Given the description of an element on the screen output the (x, y) to click on. 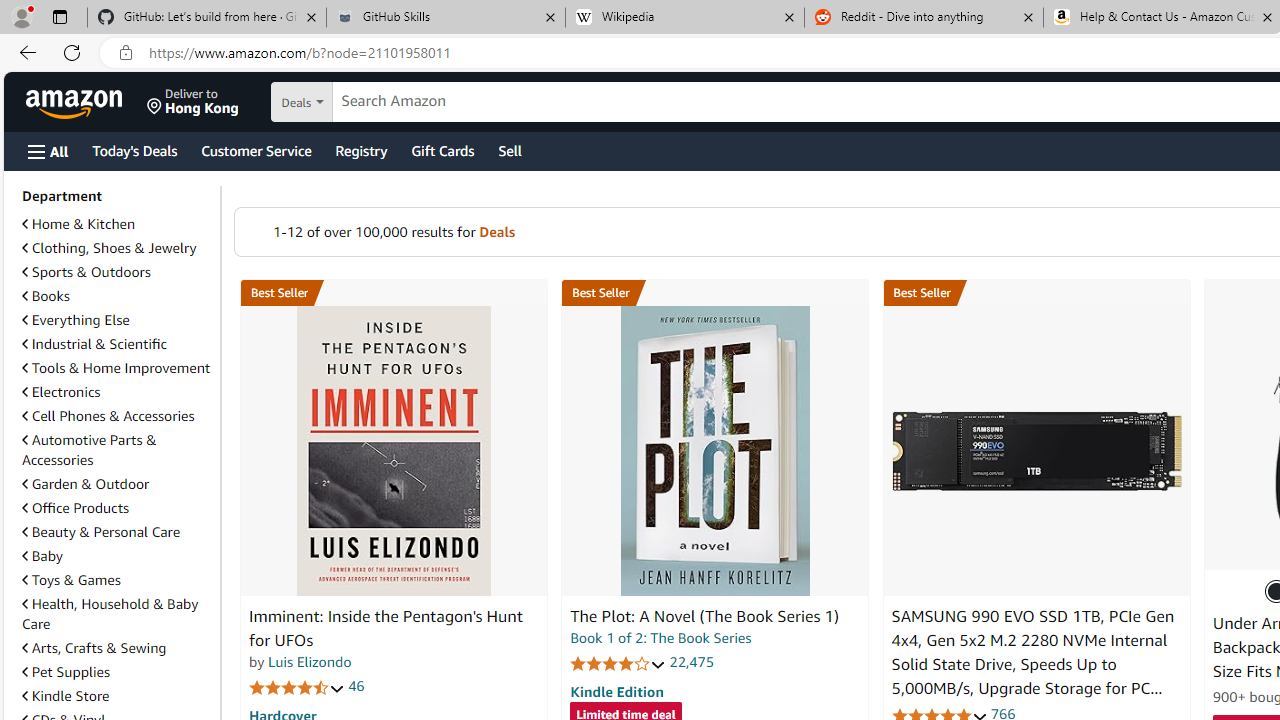
Amazon (76, 101)
Cell Phones & Accessories (117, 416)
Kindle Edition (616, 691)
Electronics (61, 392)
The Plot: A Novel (The Book Series 1) (703, 616)
Tools & Home Improvement (116, 368)
Health, Household & Baby Care (117, 614)
Gift Cards (442, 150)
Pet Supplies (65, 672)
Close tab (1267, 16)
Home & Kitchen (117, 223)
Everything Else (75, 320)
The Plot: A Novel (The Book Series 1) (714, 451)
